Given the description of an element on the screen output the (x, y) to click on. 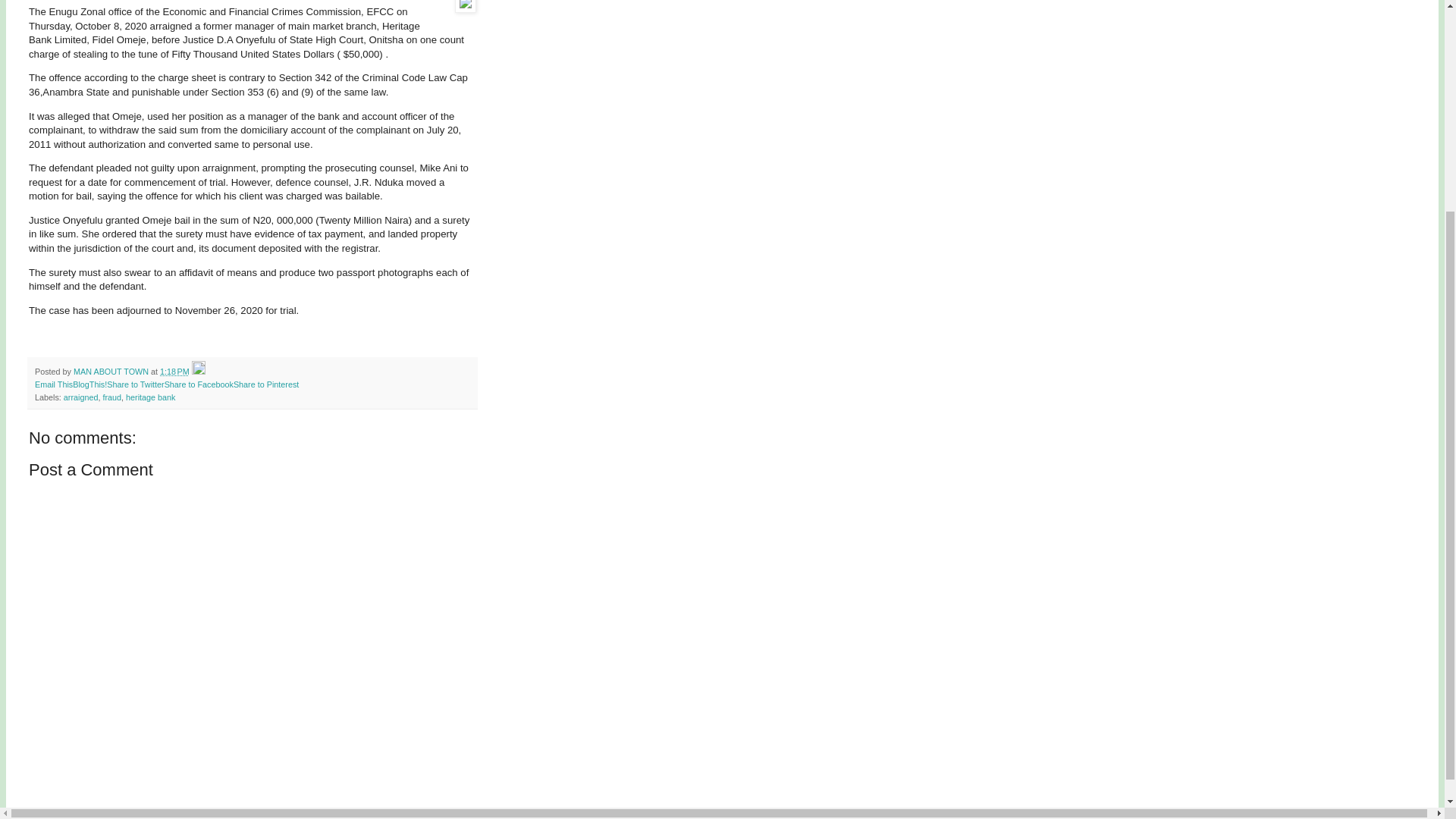
Share to Facebook (198, 384)
fraud (110, 397)
arraigned (81, 397)
author profile (112, 370)
BlogThis! (89, 384)
Email This (53, 384)
BlogThis! (89, 384)
Share to Pinterest (265, 384)
Share to Facebook (198, 384)
Email This (53, 384)
Share to Pinterest (265, 384)
permanent link (174, 370)
Share to Twitter (134, 384)
MAN ABOUT TOWN (112, 370)
